Given the description of an element on the screen output the (x, y) to click on. 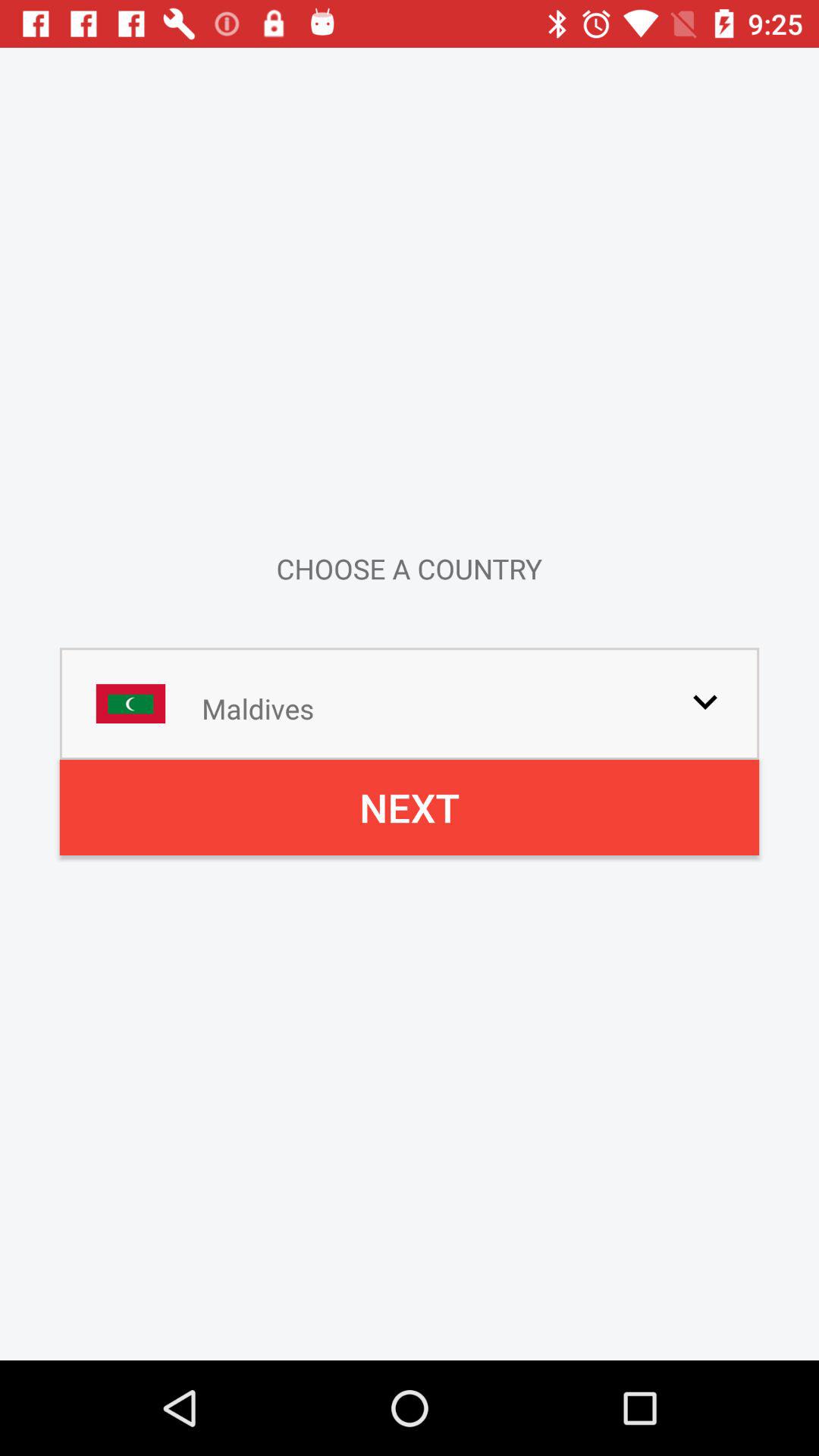
launch icon on the right (705, 701)
